Given the description of an element on the screen output the (x, y) to click on. 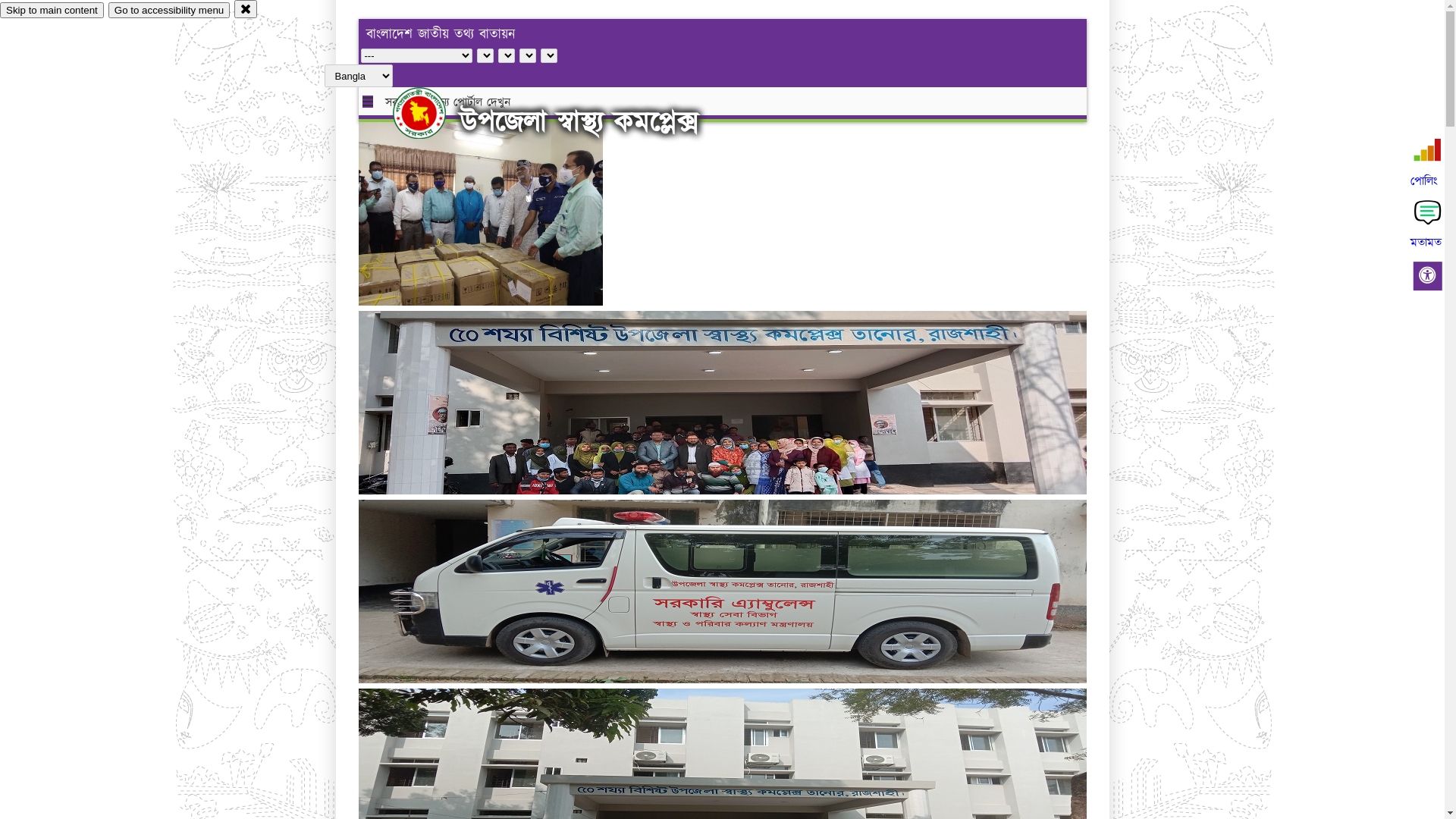

                
             Element type: hover (431, 112)
Go to accessibility menu Element type: text (168, 10)
close Element type: hover (245, 9)
Skip to main content Element type: text (51, 10)
